Given the description of an element on the screen output the (x, y) to click on. 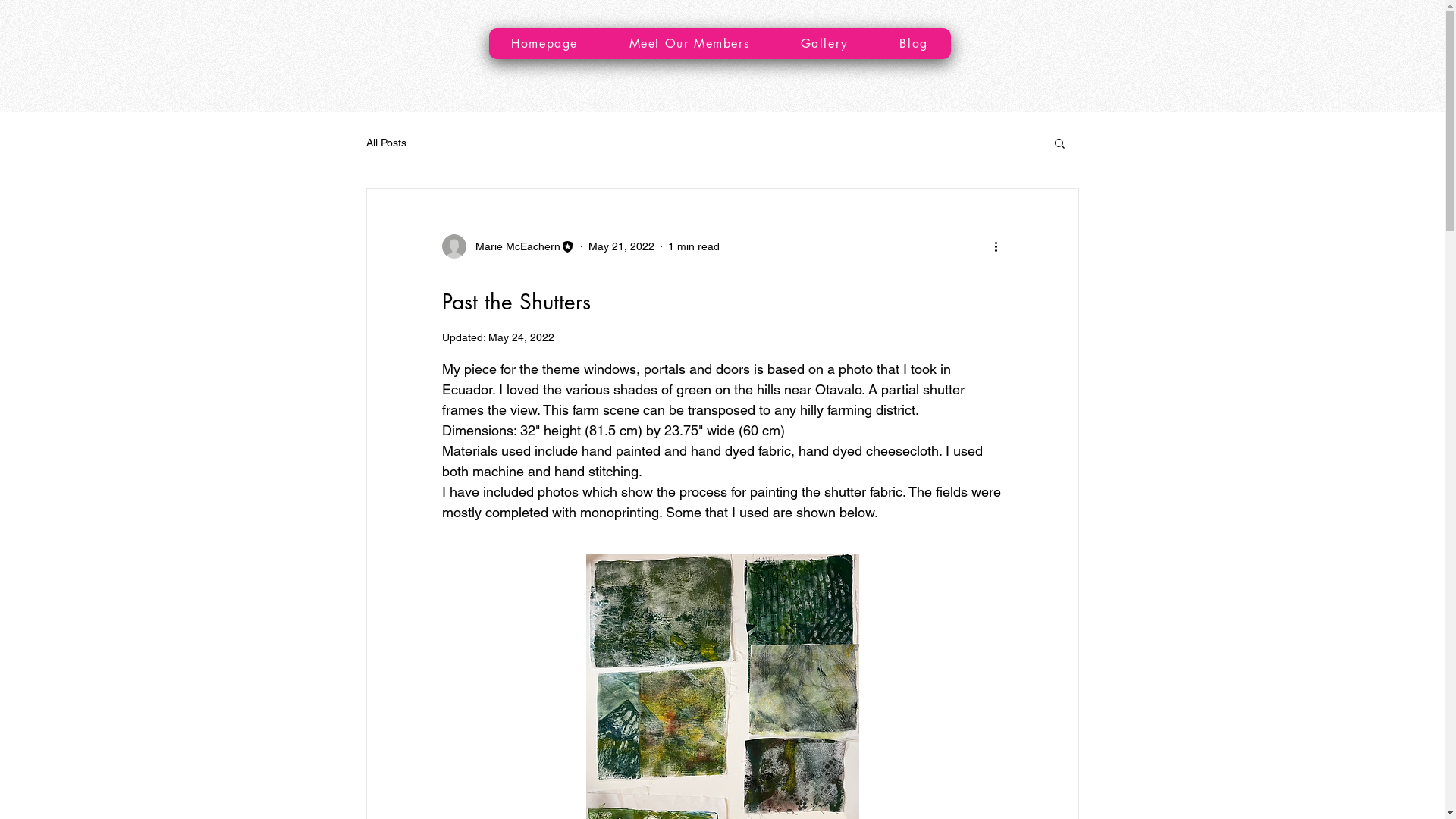
Gallery Element type: text (824, 43)
All Posts Element type: text (385, 142)
Marie McEachern Element type: text (507, 246)
Blog Element type: text (913, 43)
Homepage Element type: text (543, 43)
Meet Our Members Element type: text (688, 43)
